Given the description of an element on the screen output the (x, y) to click on. 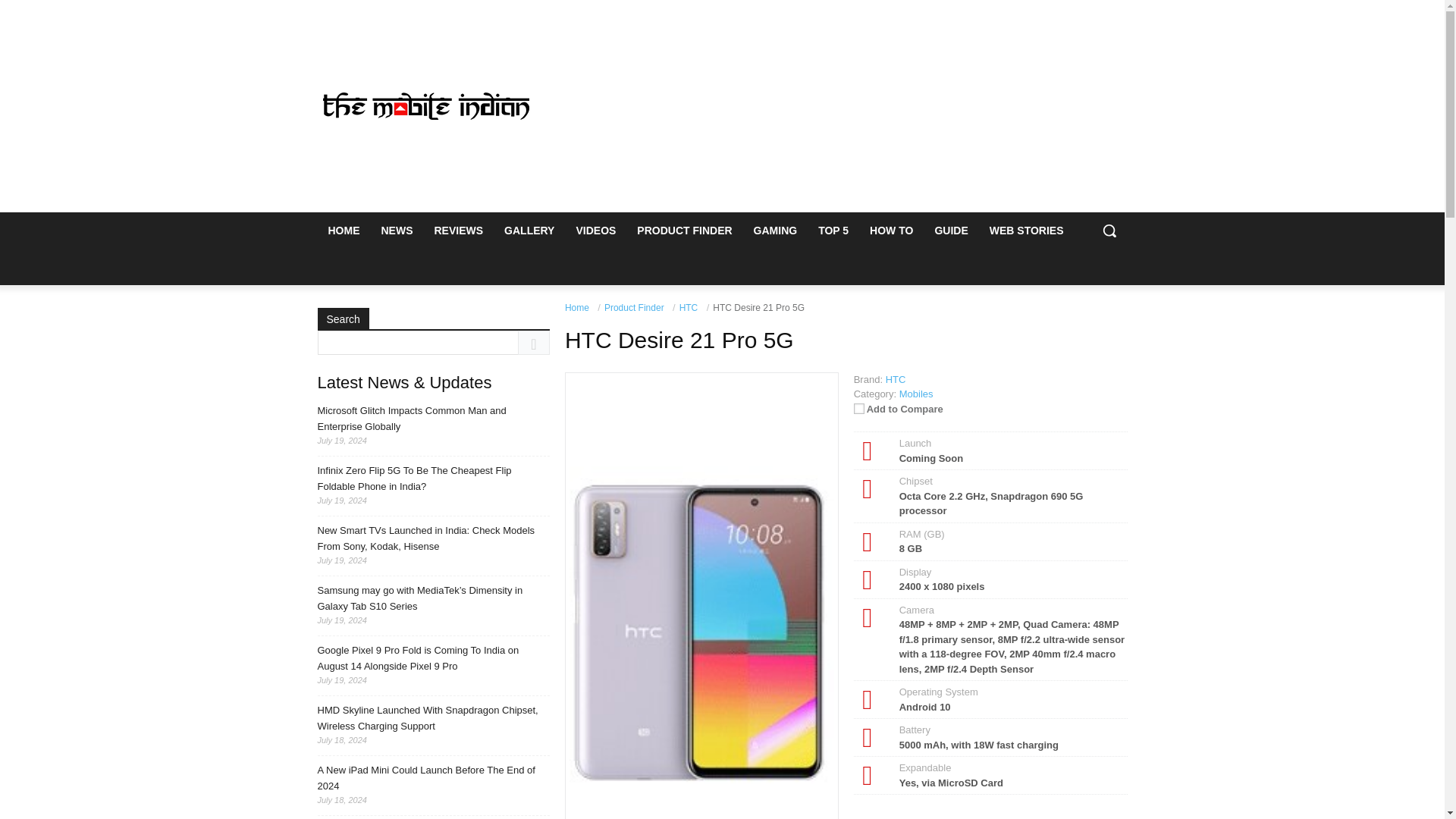
HOME (343, 230)
REVIEWS (458, 230)
Advertisement (846, 106)
HTC (895, 378)
Mobiles (916, 393)
Product Finder (633, 307)
HTC (688, 307)
VIDEOS (595, 230)
WEB STORIES (1026, 230)
PRODUCT FINDER (684, 230)
NEWS (396, 230)
TOP 5 (833, 230)
Home (576, 307)
GALLERY (528, 230)
The Mobile Indian (426, 106)
